Given the description of an element on the screen output the (x, y) to click on. 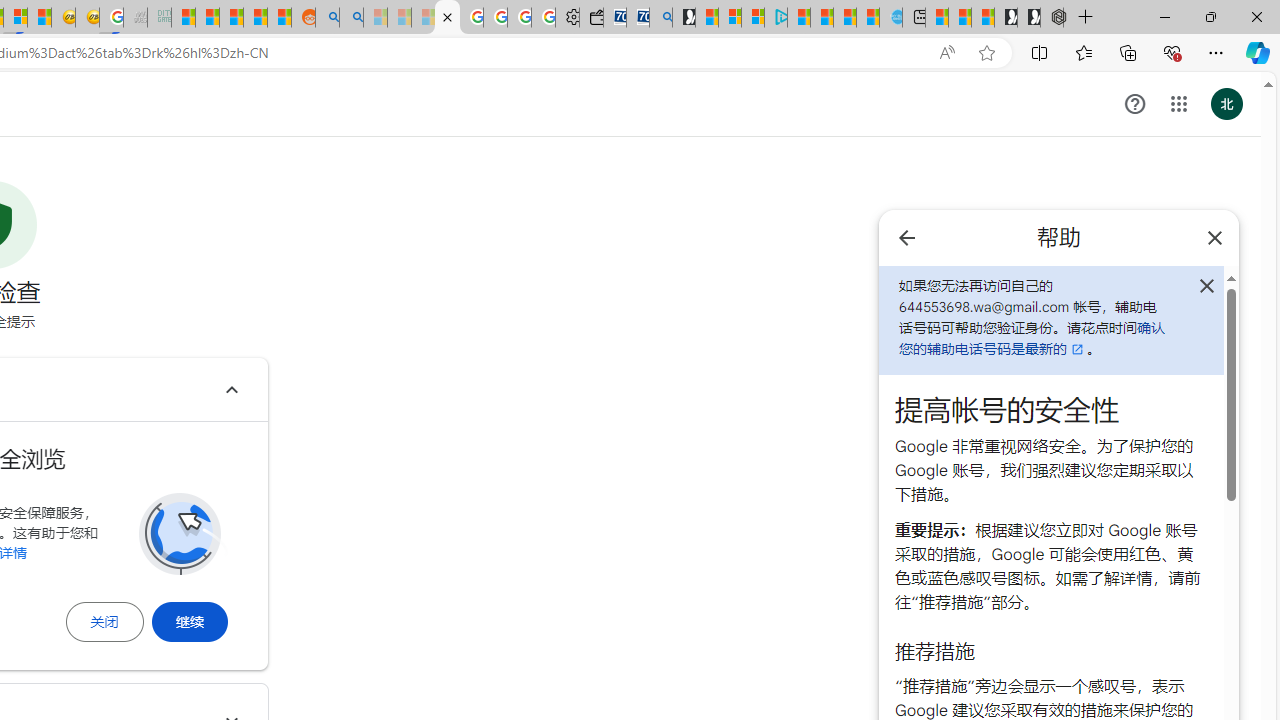
Student Loan Update: Forgiveness Program Ends This Month (255, 17)
